Given the description of an element on the screen output the (x, y) to click on. 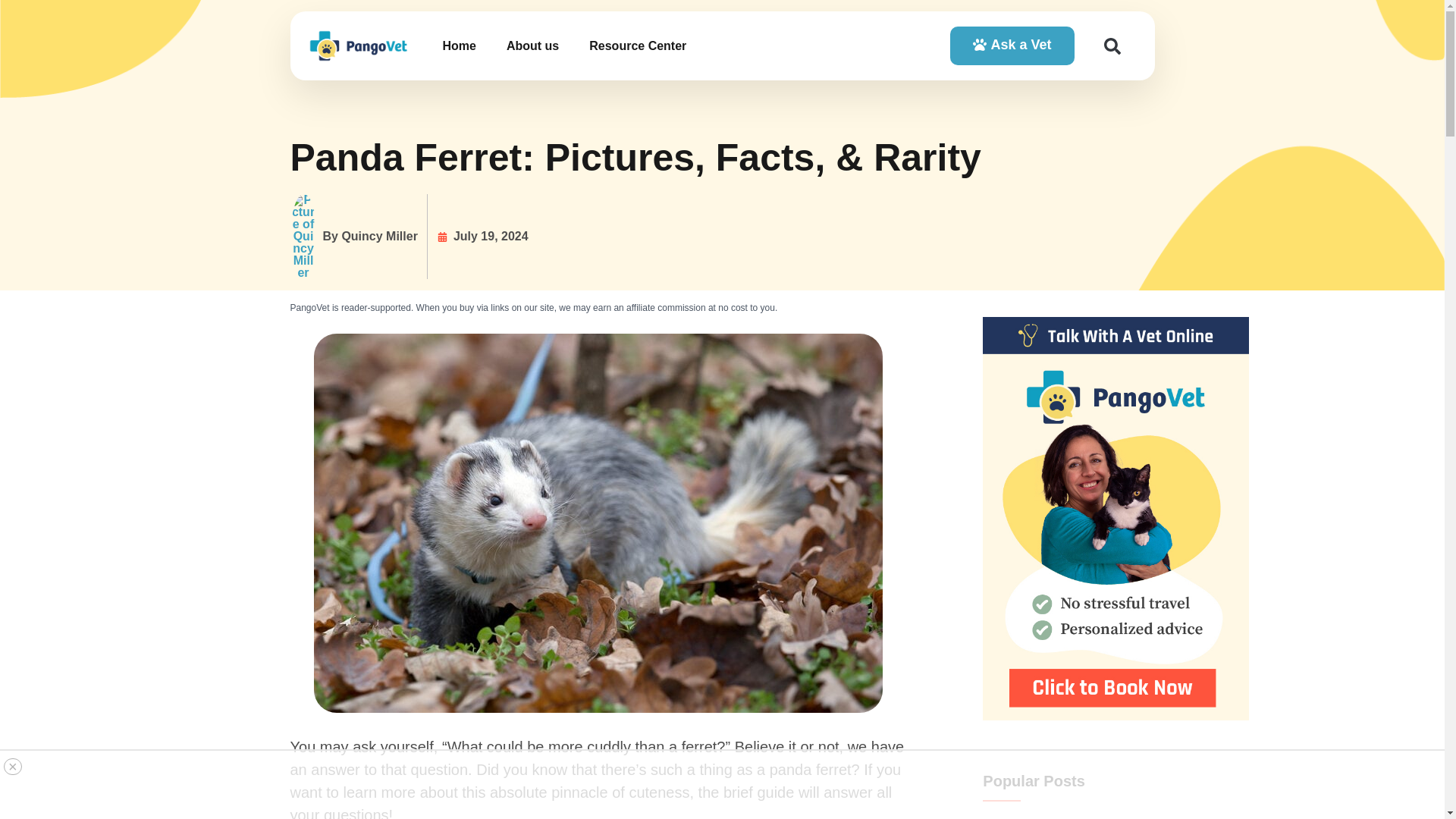
About us (532, 46)
Ask a Vet (1012, 45)
Resource Center (637, 46)
Home (458, 46)
By Quincy Miller (352, 236)
